Given the description of an element on the screen output the (x, y) to click on. 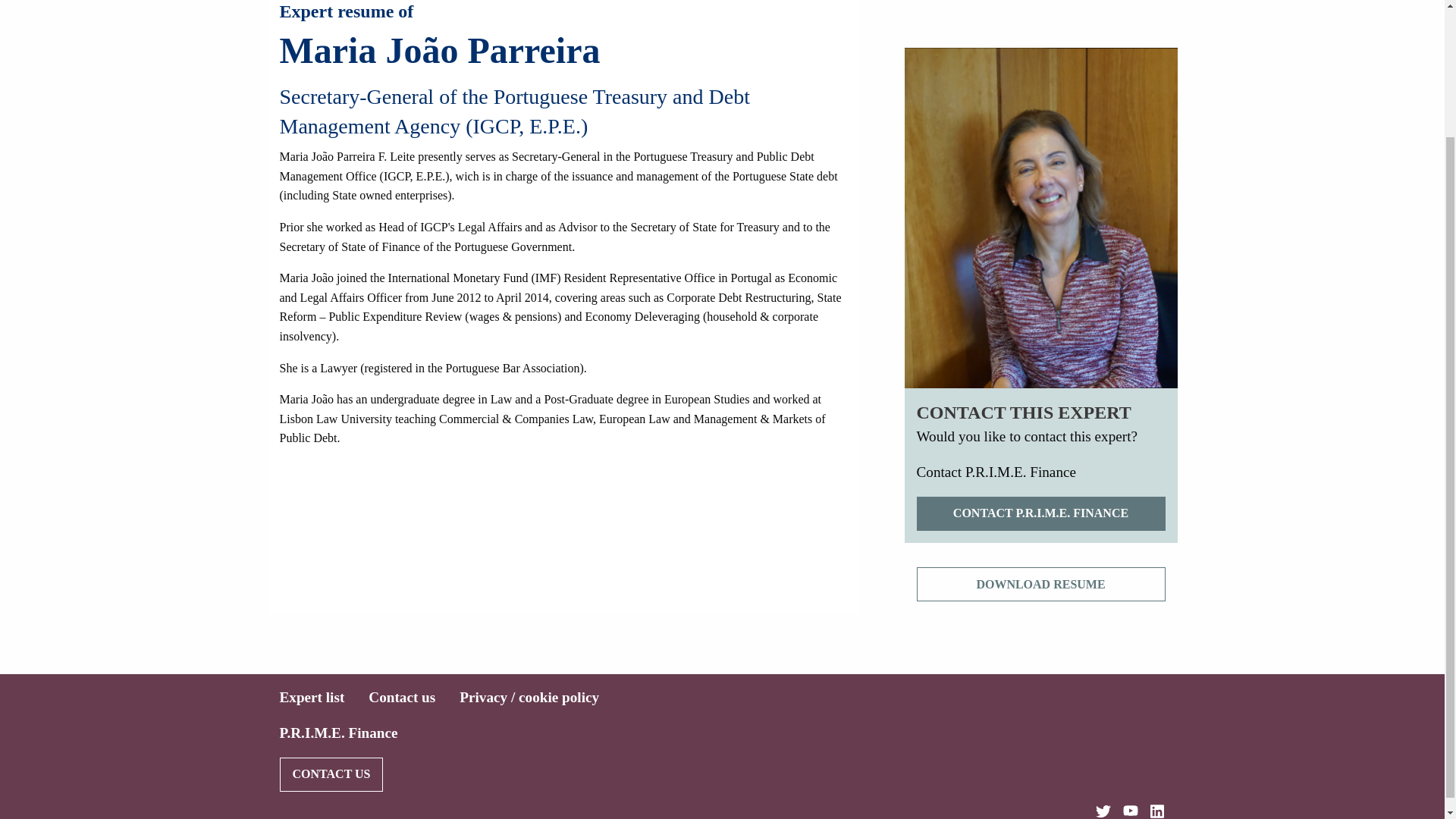
DOWNLOAD RESUME (1039, 584)
Expert list (311, 697)
CONTACT P.R.I.M.E. FINANCE (1039, 513)
Contact us (401, 697)
